Given the description of an element on the screen output the (x, y) to click on. 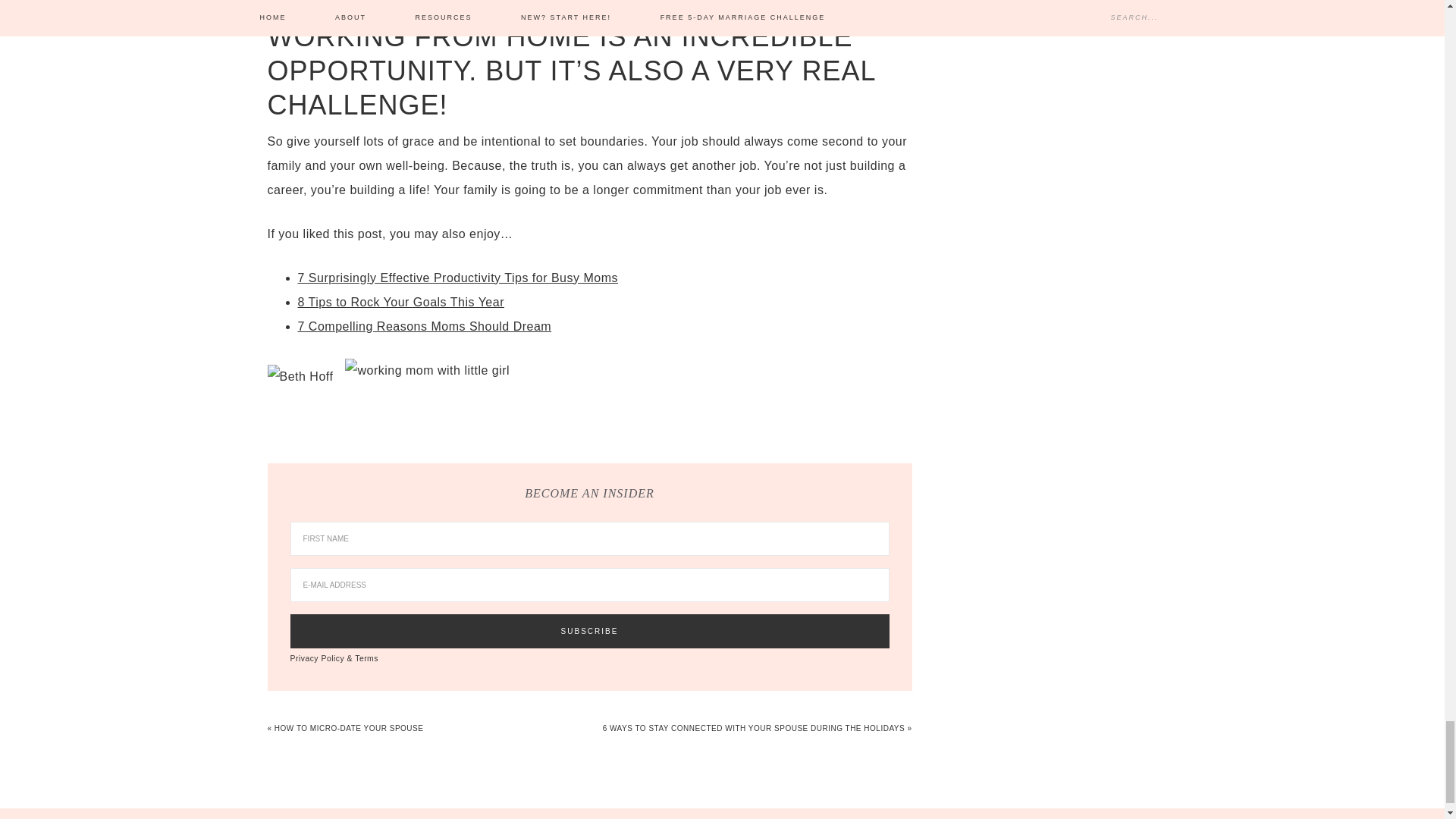
Subscribe (588, 631)
7 Surprisingly Effective Productivity Tips for Busy Moms (457, 277)
Subscribe (588, 631)
7 Compelling Reasons Moms Should Dream (424, 326)
8 Tips to Rock Your Goals This Year (400, 301)
